Given the description of an element on the screen output the (x, y) to click on. 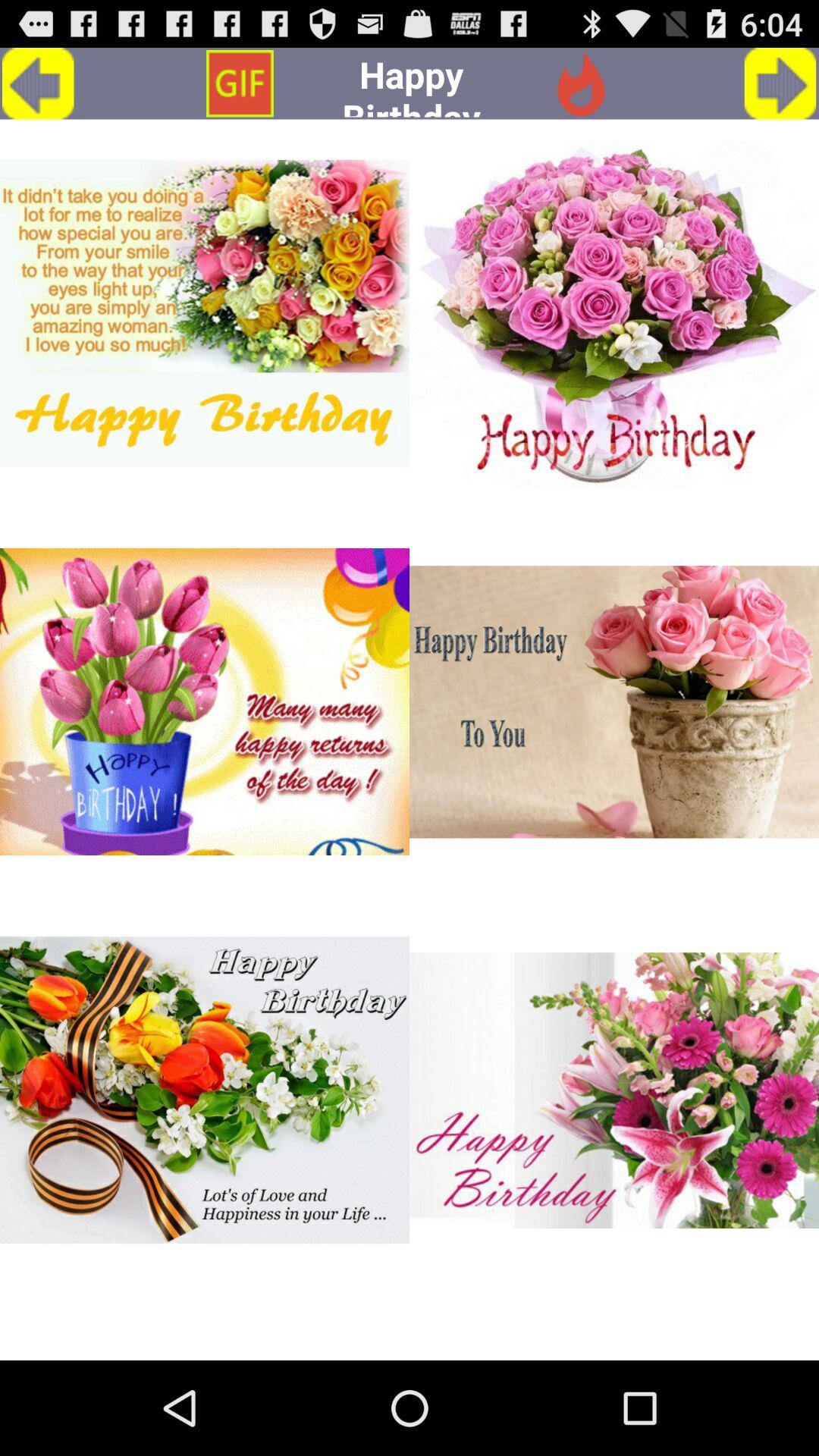
choose happy birthday picture (614, 1090)
